Given the description of an element on the screen output the (x, y) to click on. 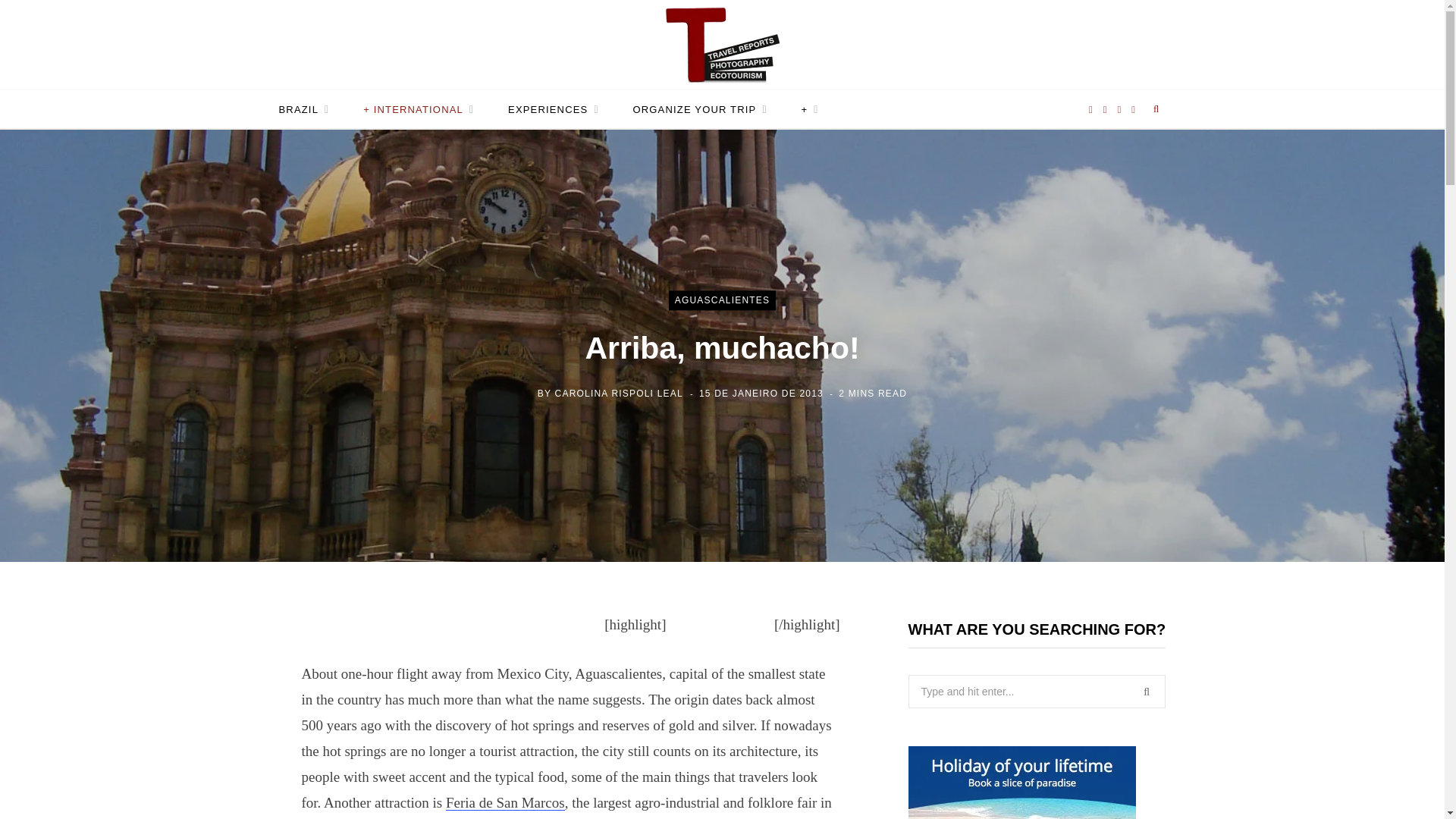
Posts de Carolina Rispoli Leal (618, 394)
Long live the Mexican folklore (504, 802)
BRAZIL (304, 109)
EXPERIENCES (553, 109)
